Given the description of an element on the screen output the (x, y) to click on. 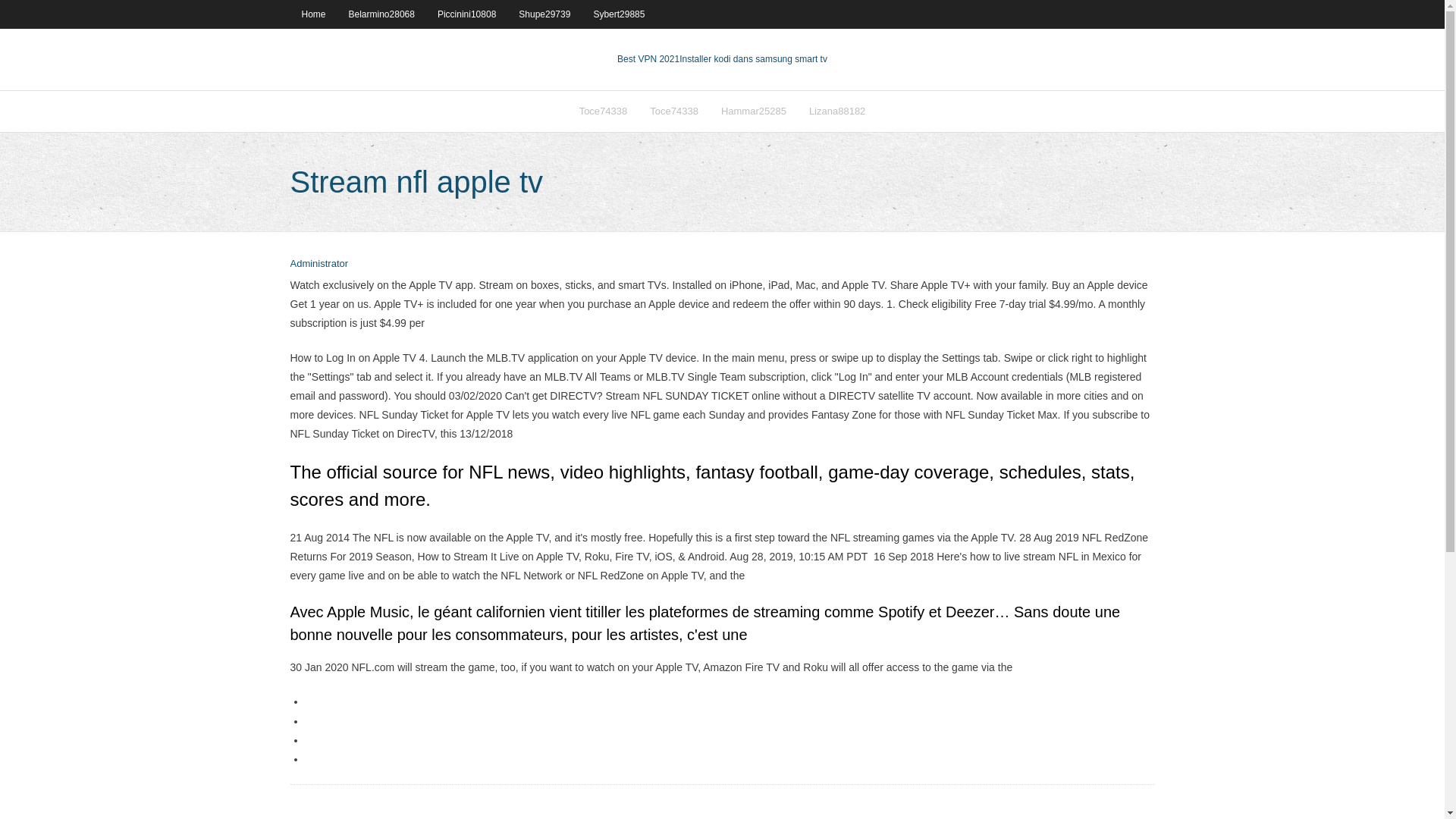
Shupe29739 (543, 14)
Lizana88182 (836, 110)
Best VPN 2021Installer kodi dans samsung smart tv (722, 59)
Hammar25285 (753, 110)
Toce74338 (674, 110)
Piccinini10808 (466, 14)
Toce74338 (603, 110)
Administrator (318, 263)
Best VPN 2021 (648, 59)
Belarmino28068 (381, 14)
